Given the description of an element on the screen output the (x, y) to click on. 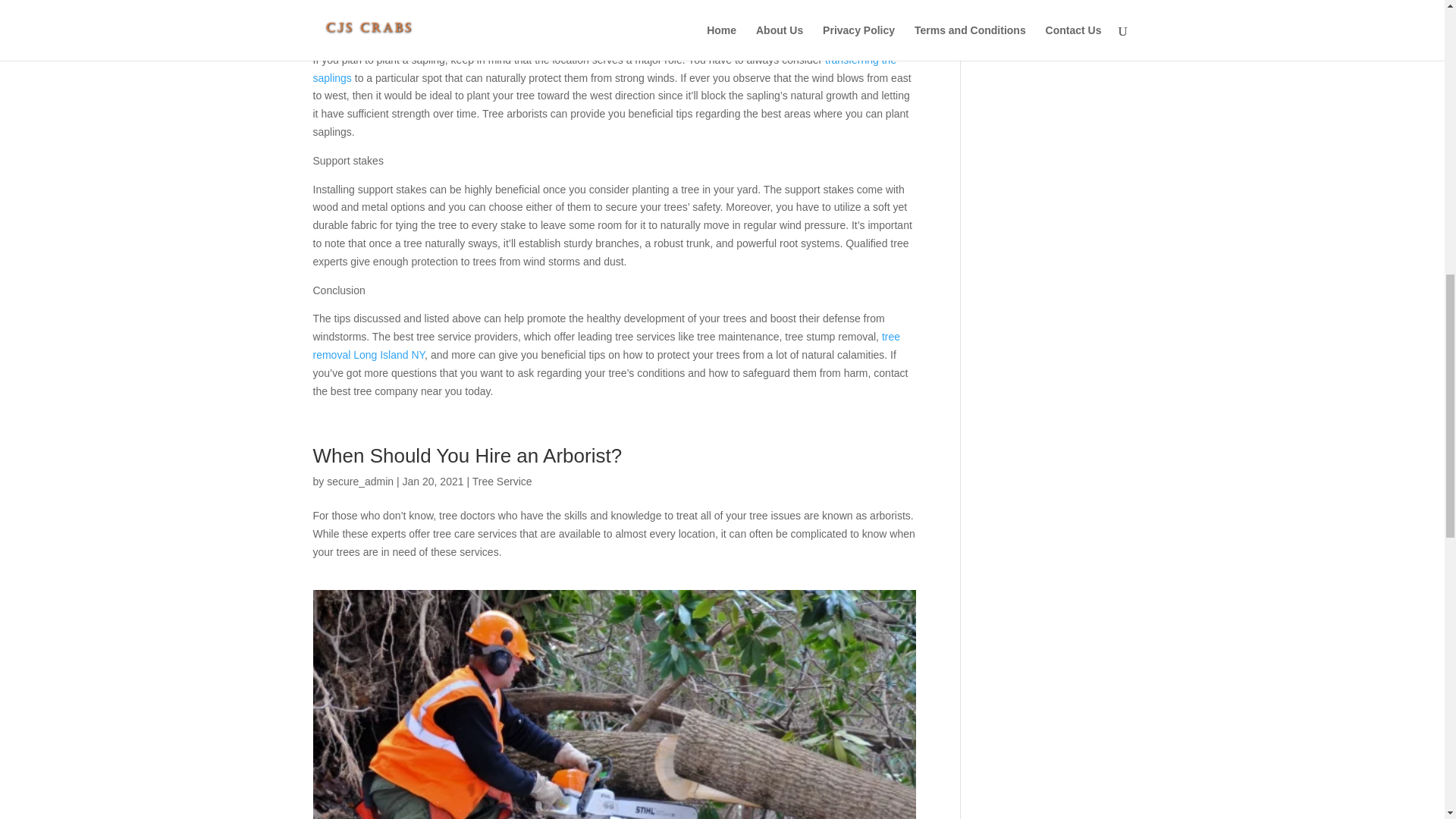
Tree Service (501, 481)
tree removal Long Island NY (606, 345)
Tree Service (1013, 48)
Septic System (1017, 24)
When Should You Hire an Arborist?  (470, 455)
transferring the saplings (604, 69)
Private Investigator (1029, 3)
